Given the description of an element on the screen output the (x, y) to click on. 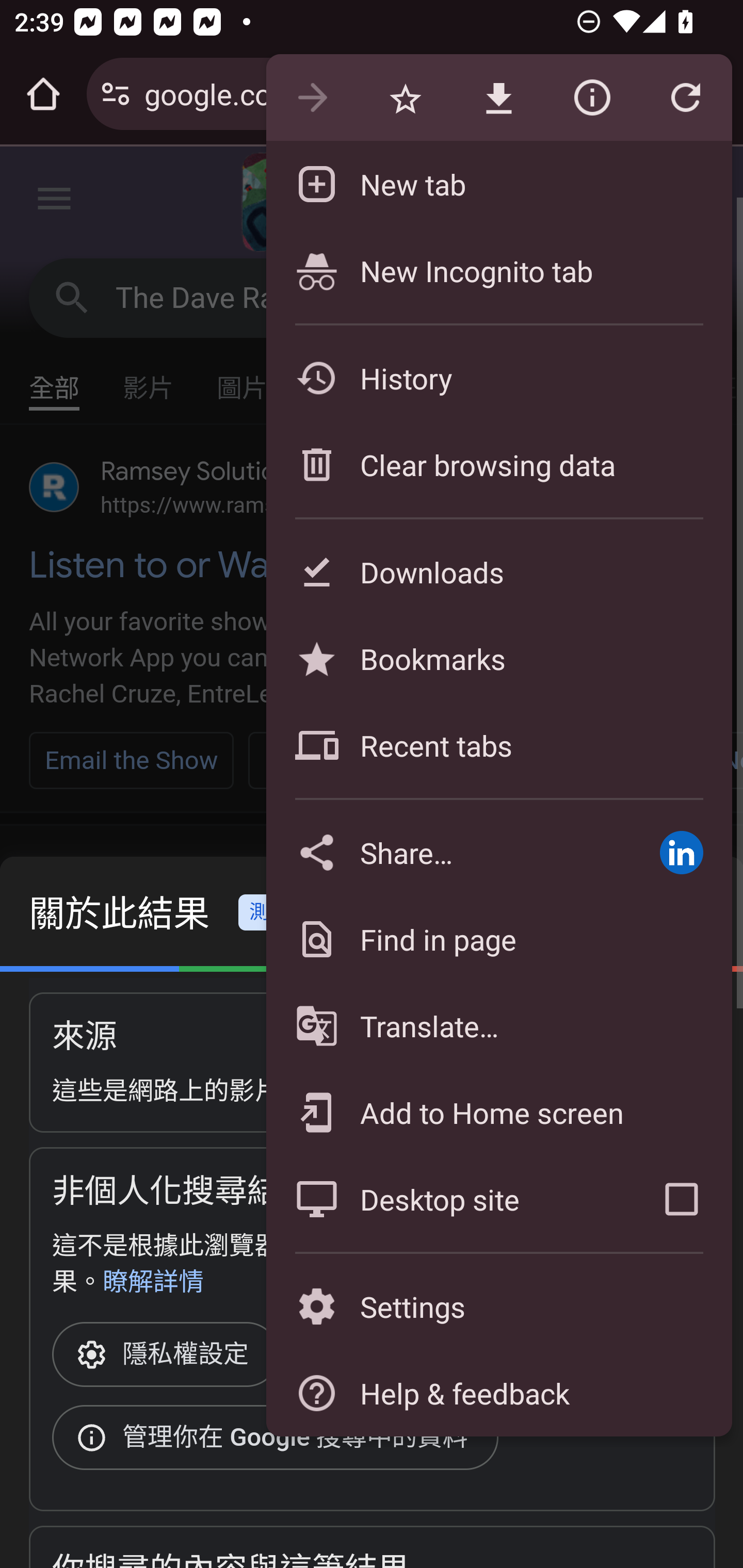
Forward (311, 97)
Bookmark (404, 97)
Download (498, 97)
Page info (591, 97)
Refresh (684, 97)
New tab (498, 184)
New Incognito tab (498, 270)
History (498, 377)
Clear browsing data (498, 464)
Downloads (498, 571)
Bookmarks (498, 658)
Recent tabs (498, 745)
Share… (447, 852)
Share via Share in a post (680, 852)
Find in page (498, 939)
Translate… (498, 1026)
Add to Home screen (498, 1112)
Desktop site Turn on Request desktop site (447, 1198)
Settings (498, 1306)
Help & feedback (498, 1393)
